Given the description of an element on the screen output the (x, y) to click on. 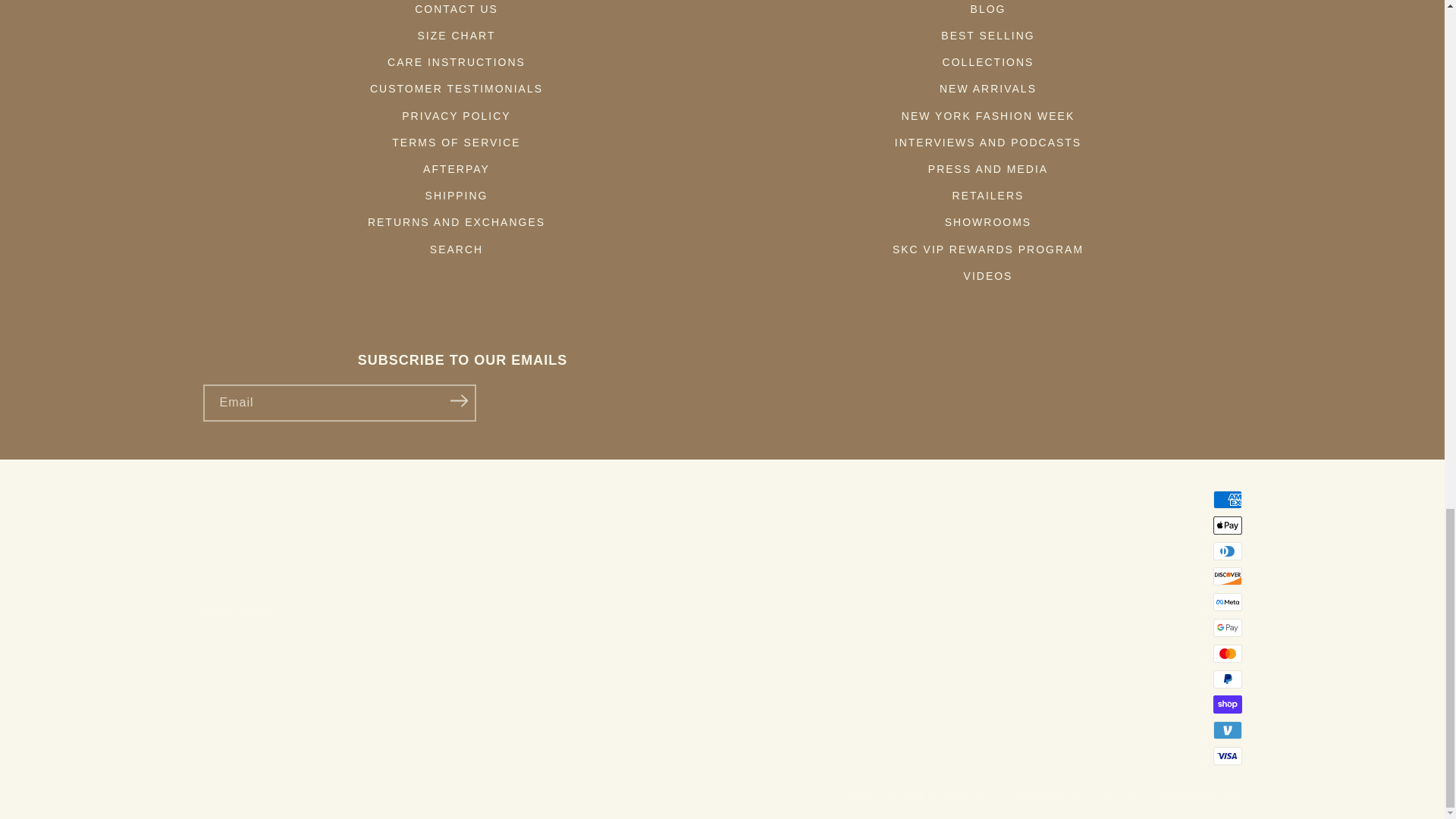
Mastercard (1226, 653)
Shop Pay (1226, 704)
PayPal (1226, 679)
Diners Club (1226, 551)
Visa (1226, 755)
Apple Pay (1226, 525)
Meta Pay (1226, 601)
Discover (1226, 576)
Venmo (1226, 730)
Google Pay (1226, 628)
